Given the description of an element on the screen output the (x, y) to click on. 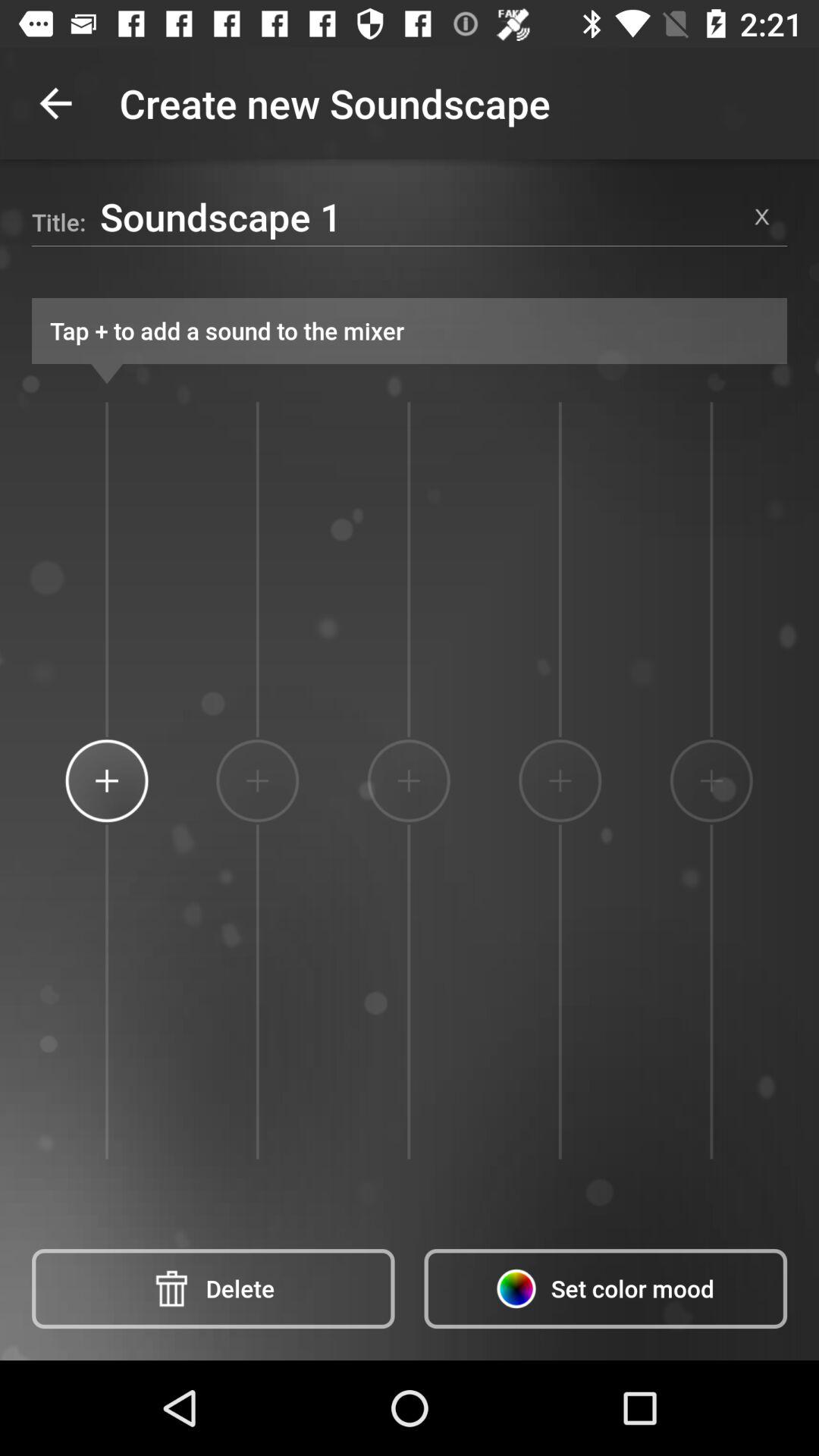
cancel title (762, 216)
